Given the description of an element on the screen output the (x, y) to click on. 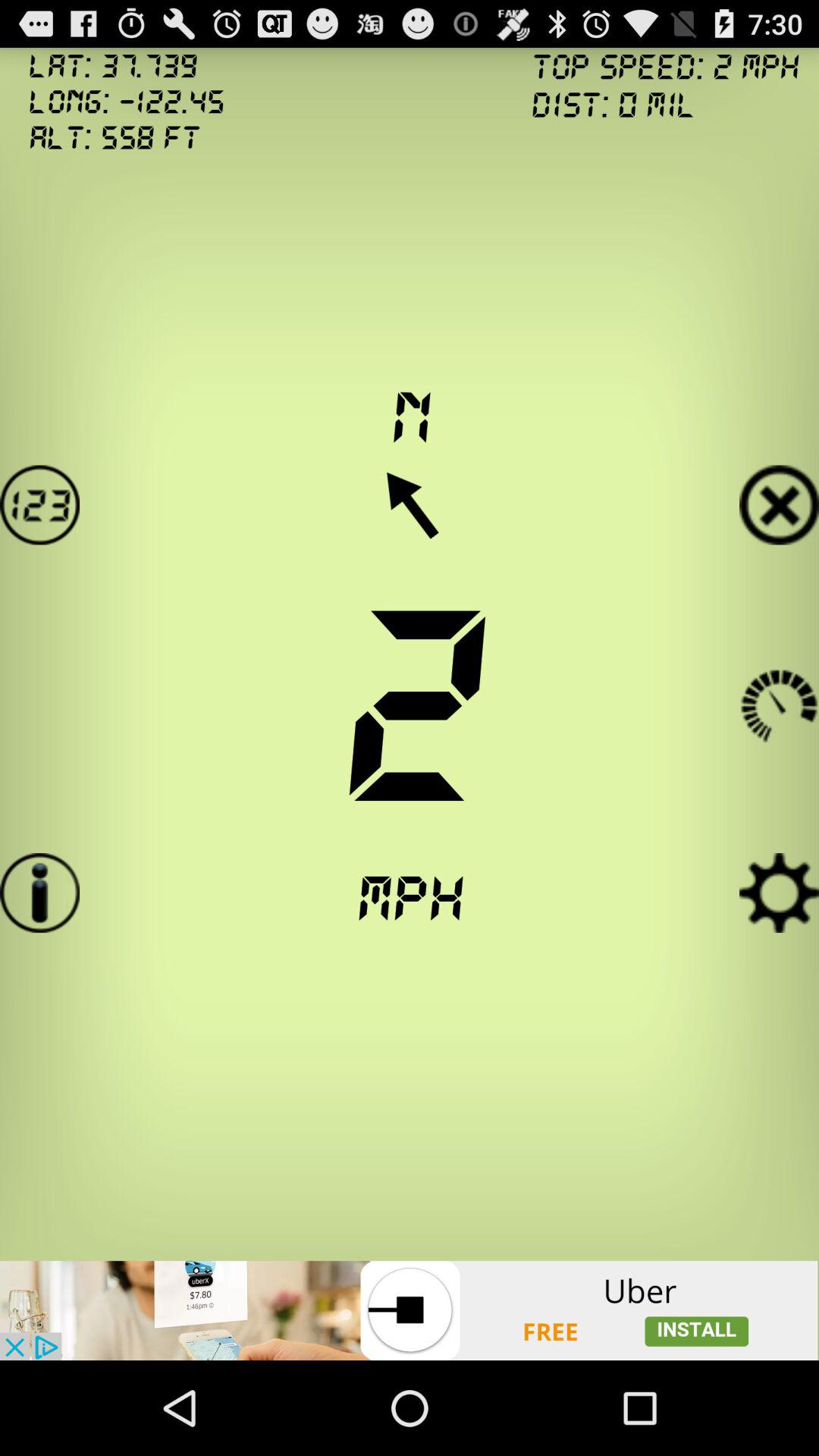
close app (779, 504)
